Given the description of an element on the screen output the (x, y) to click on. 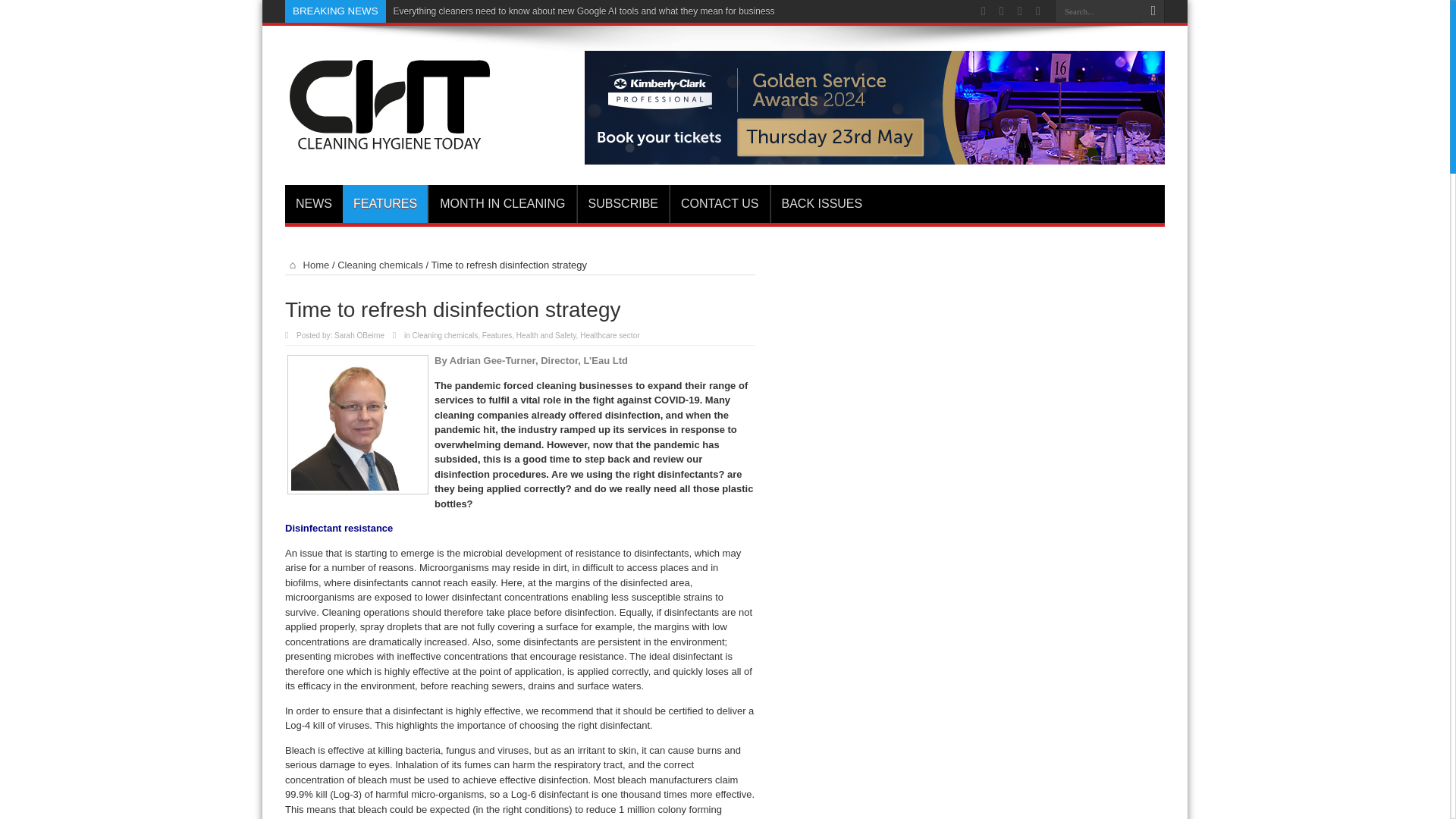
Search... (1097, 11)
Health and Safety (546, 335)
Healthcare sector (609, 335)
Sarah OBeirne (359, 335)
CONTACT US (719, 203)
Features (496, 335)
Cleaning Hygiene Today (389, 145)
Home (307, 265)
